Given the description of an element on the screen output the (x, y) to click on. 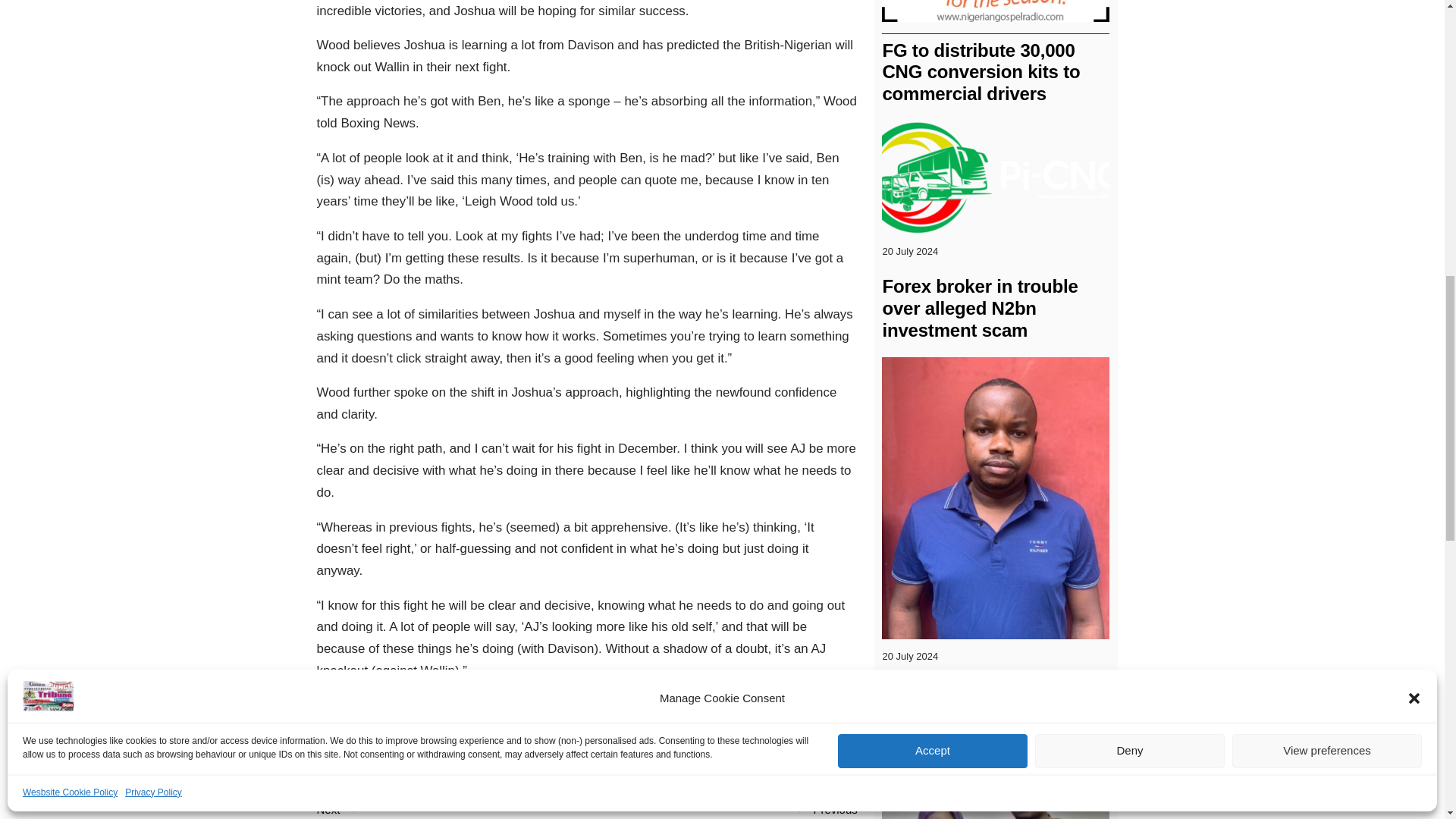
Sports (432, 732)
Previous (834, 808)
Next (328, 808)
Sports (343, 732)
